Given the description of an element on the screen output the (x, y) to click on. 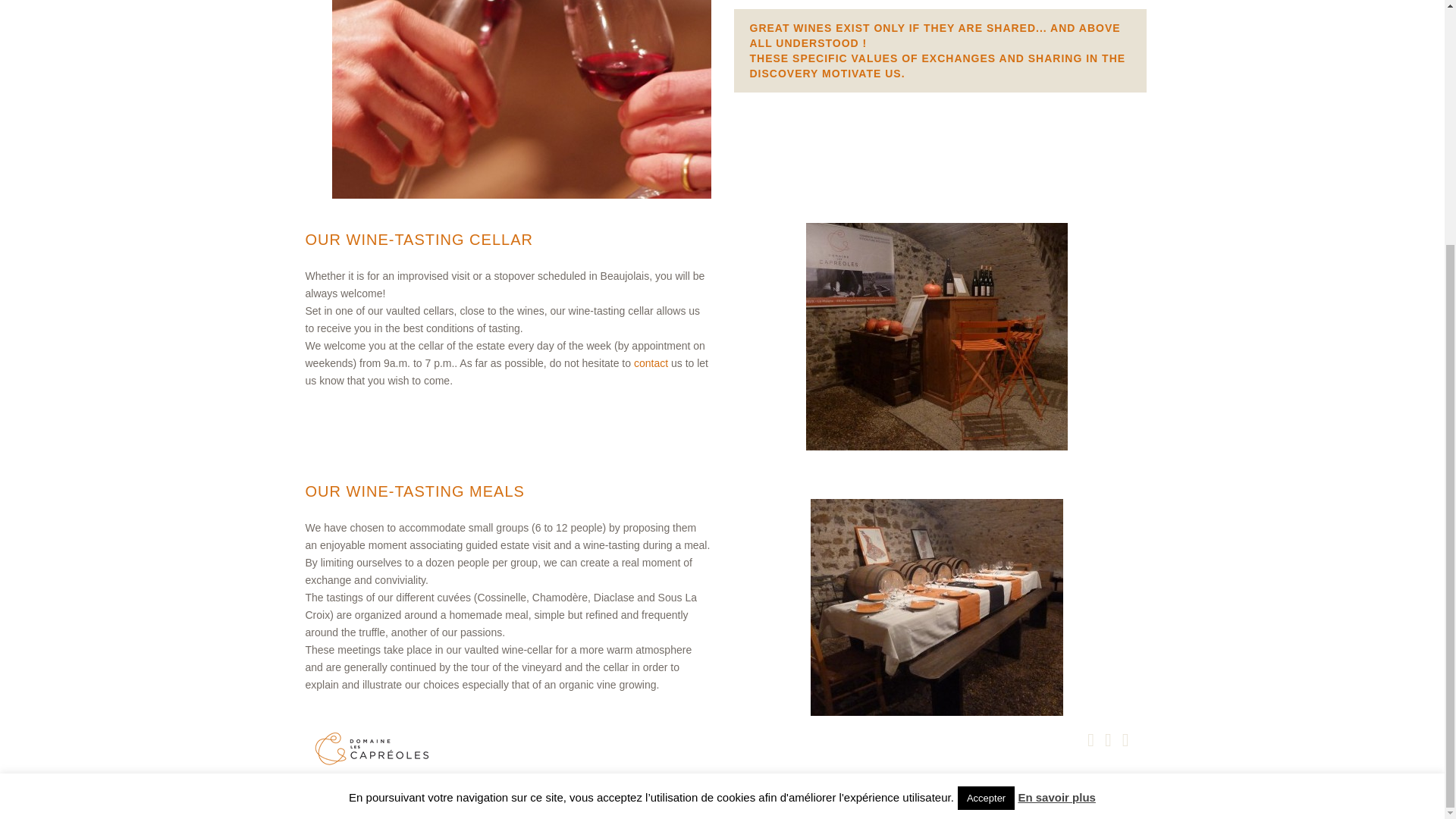
Accepter (986, 458)
verre (521, 99)
P1050628 (935, 606)
Logotype-Capreoles2 (371, 750)
contact (650, 363)
En savoir plus (1056, 457)
